Given the description of an element on the screen output the (x, y) to click on. 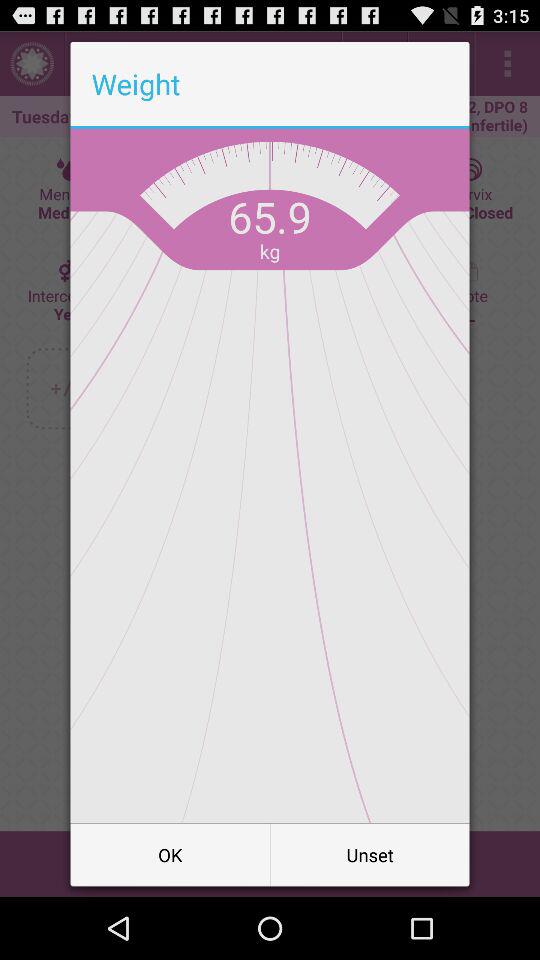
click unset icon (369, 854)
